Given the description of an element on the screen output the (x, y) to click on. 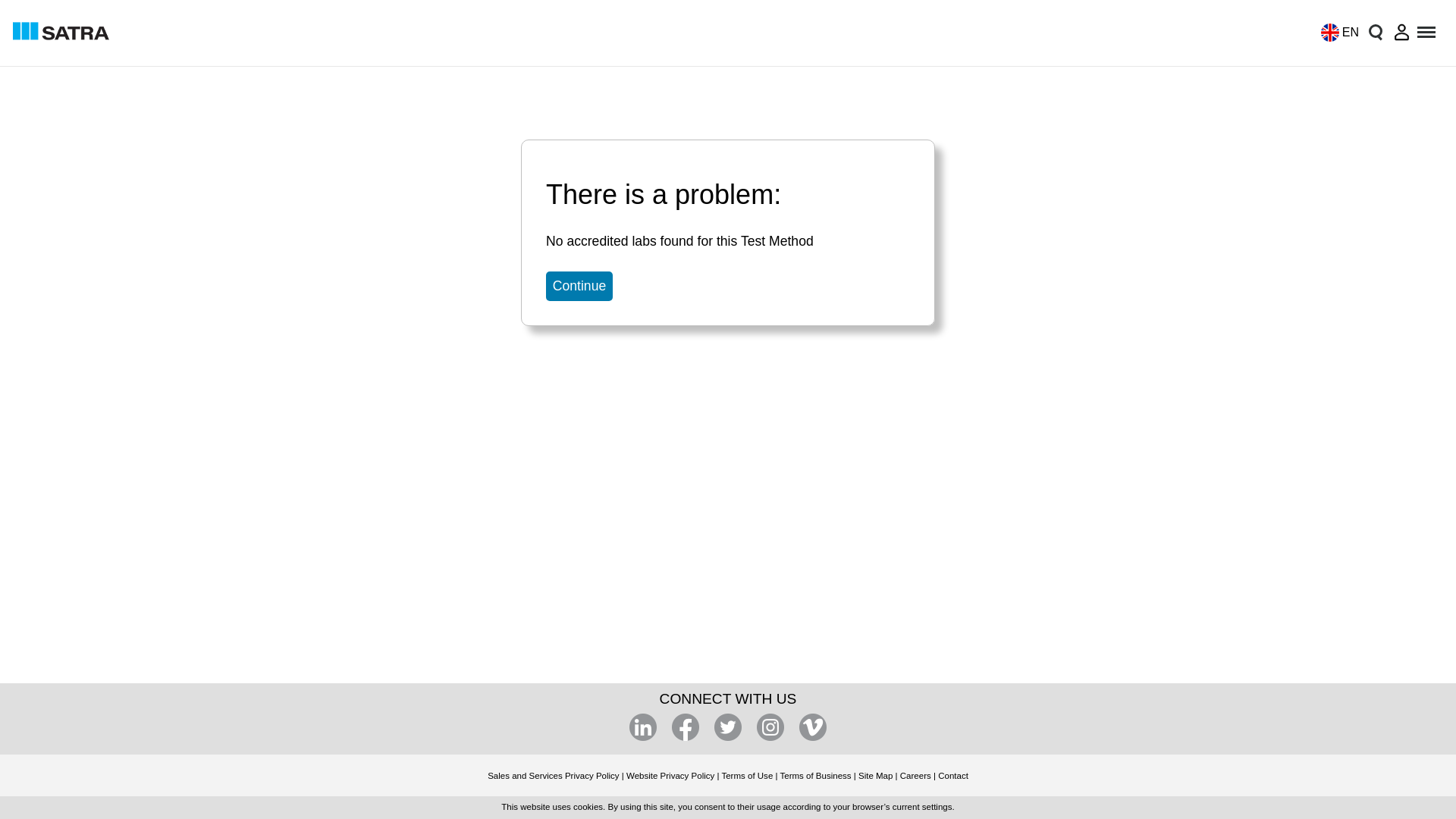
Continue (579, 286)
Change language (1335, 32)
EN (1335, 32)
Search this site (1374, 32)
Navigation menu (1427, 32)
